Given the description of an element on the screen output the (x, y) to click on. 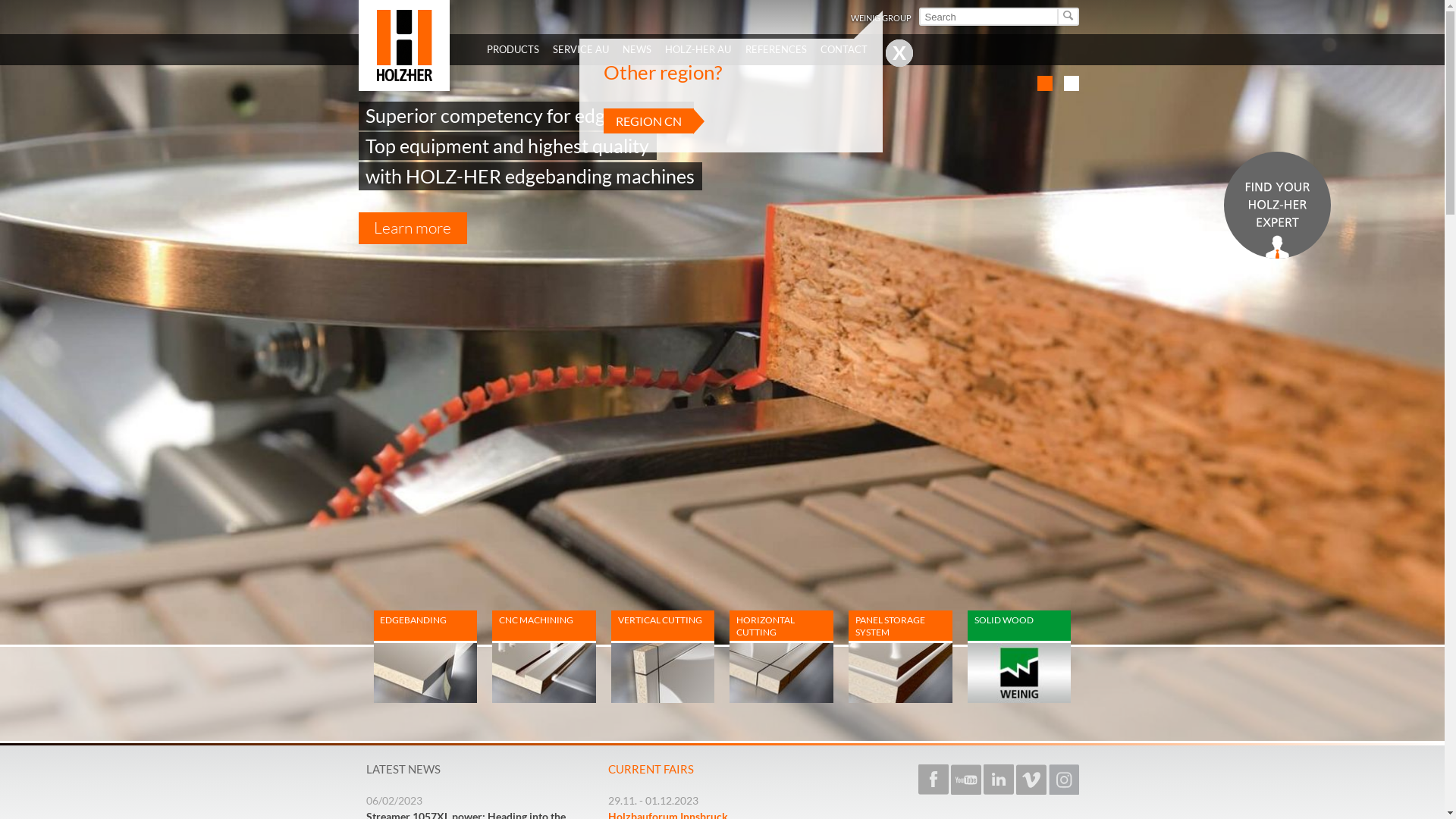
VERTICAL CUTTING Element type: hover (663, 671)
HORIZONTAL CUTTING Element type: hover (781, 671)
CURRENT FAIRS Element type: text (650, 768)
HORIZONTAL CUTTING Element type: text (781, 656)
SOLID WOOD Element type: text (1019, 656)
VERTICAL CUTTING Element type: text (663, 656)
EDGEBANDING Element type: text (424, 656)
CNC MACHINING Element type: hover (544, 671)
CNC MACHINING Element type: text (544, 656)
REGION CN Element type: text (648, 120)
PANEL STORAGE SYSTEM Element type: text (900, 656)
Learn more Element type: text (412, 228)
PANEL STORAGE SYSTEM  Element type: hover (900, 671)
WEINIG GROUP Element type: text (880, 17)
LATEST NEWS Element type: text (402, 768)
zur Startseite der Michael Weinig AG Element type: hover (402, 45)
EDGEBANDING Element type: hover (424, 671)
SOLID WOOD Element type: hover (1019, 671)
